Given the description of an element on the screen output the (x, y) to click on. 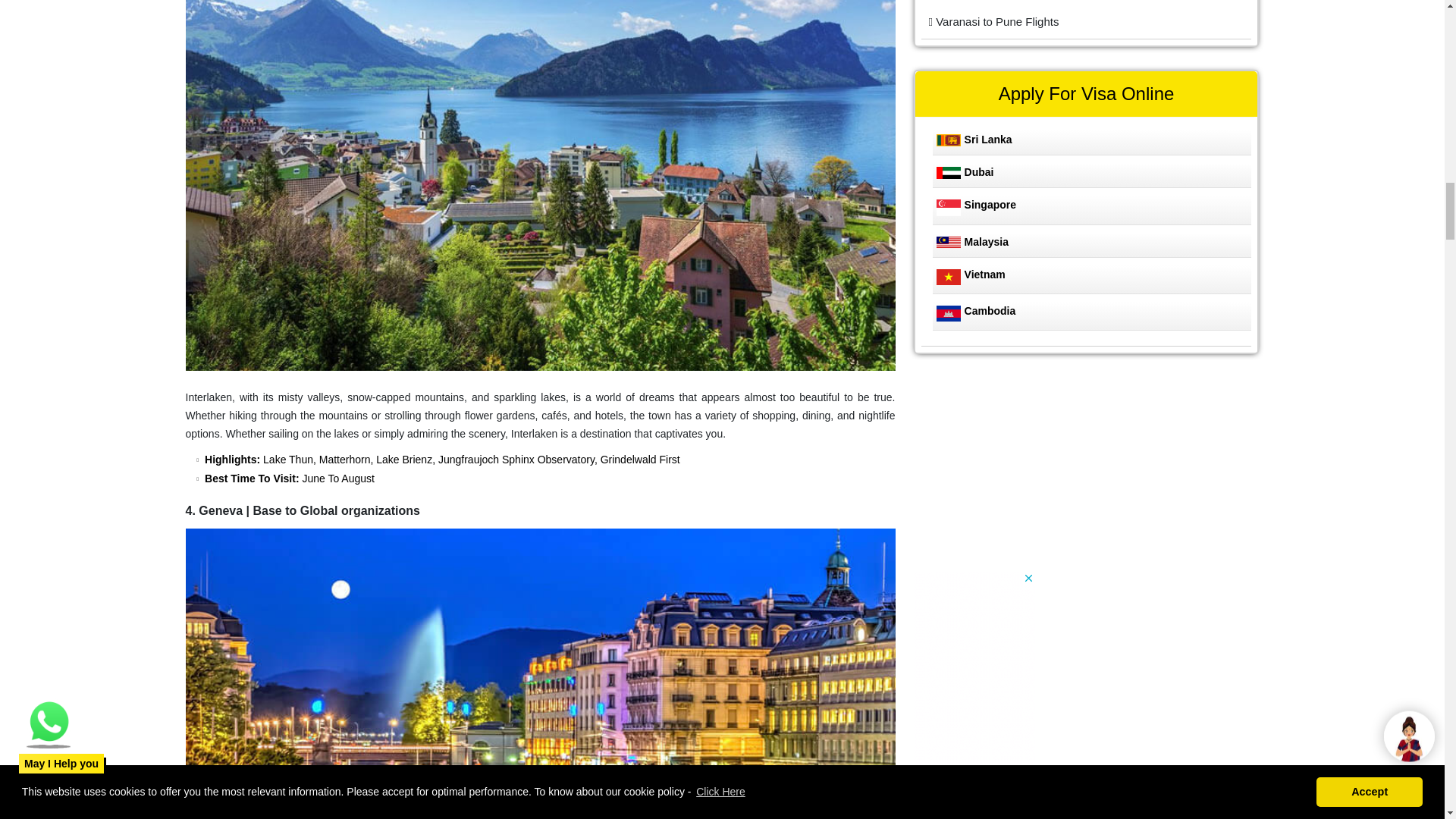
advertisement (1026, 471)
